Given the description of an element on the screen output the (x, y) to click on. 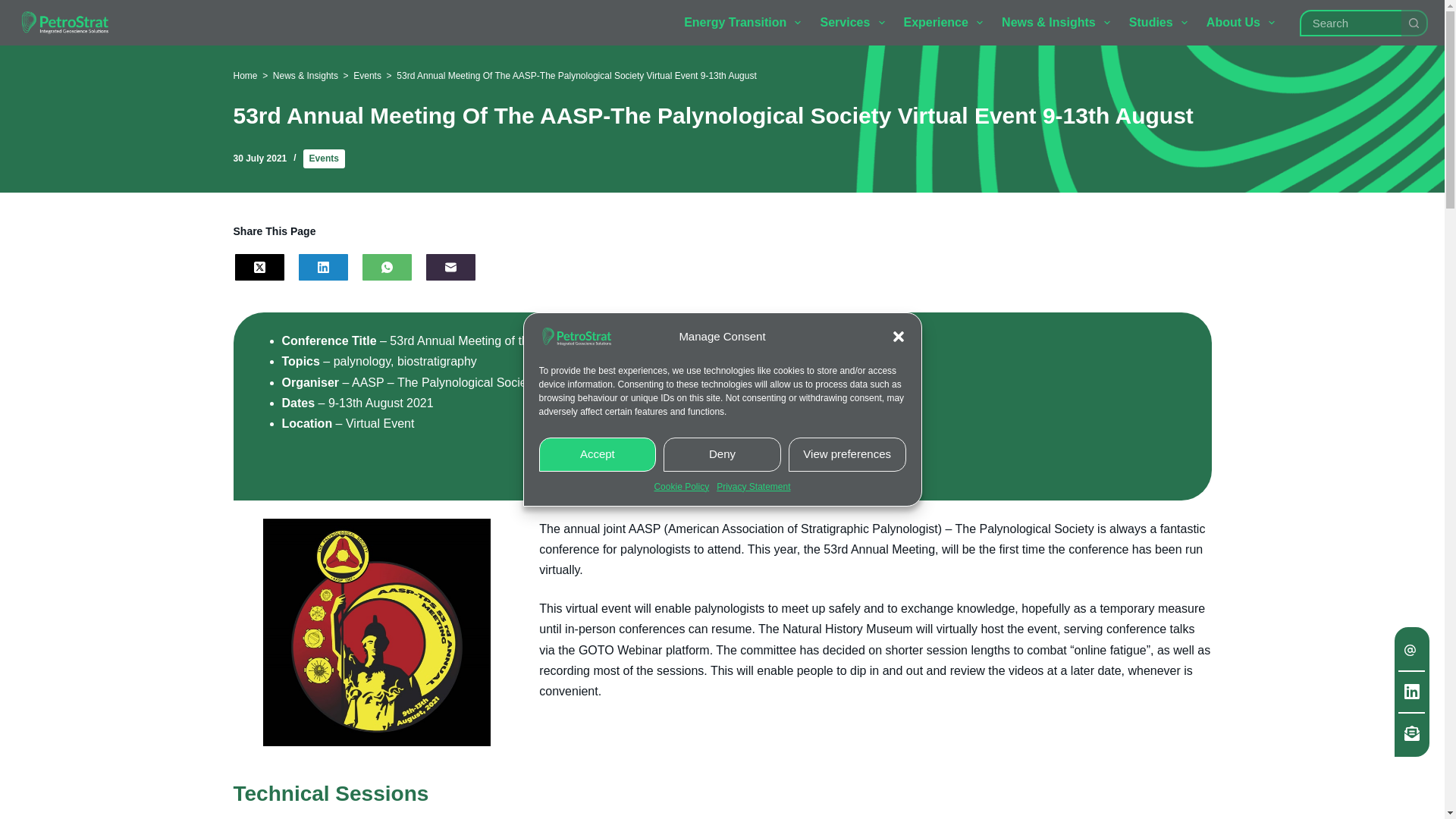
Deny (721, 454)
View preferences (847, 454)
Skip to content (15, 7)
Accept (597, 454)
Search for... (1350, 22)
Cookie Policy (681, 486)
Privacy Statement (753, 486)
